Given the description of an element on the screen output the (x, y) to click on. 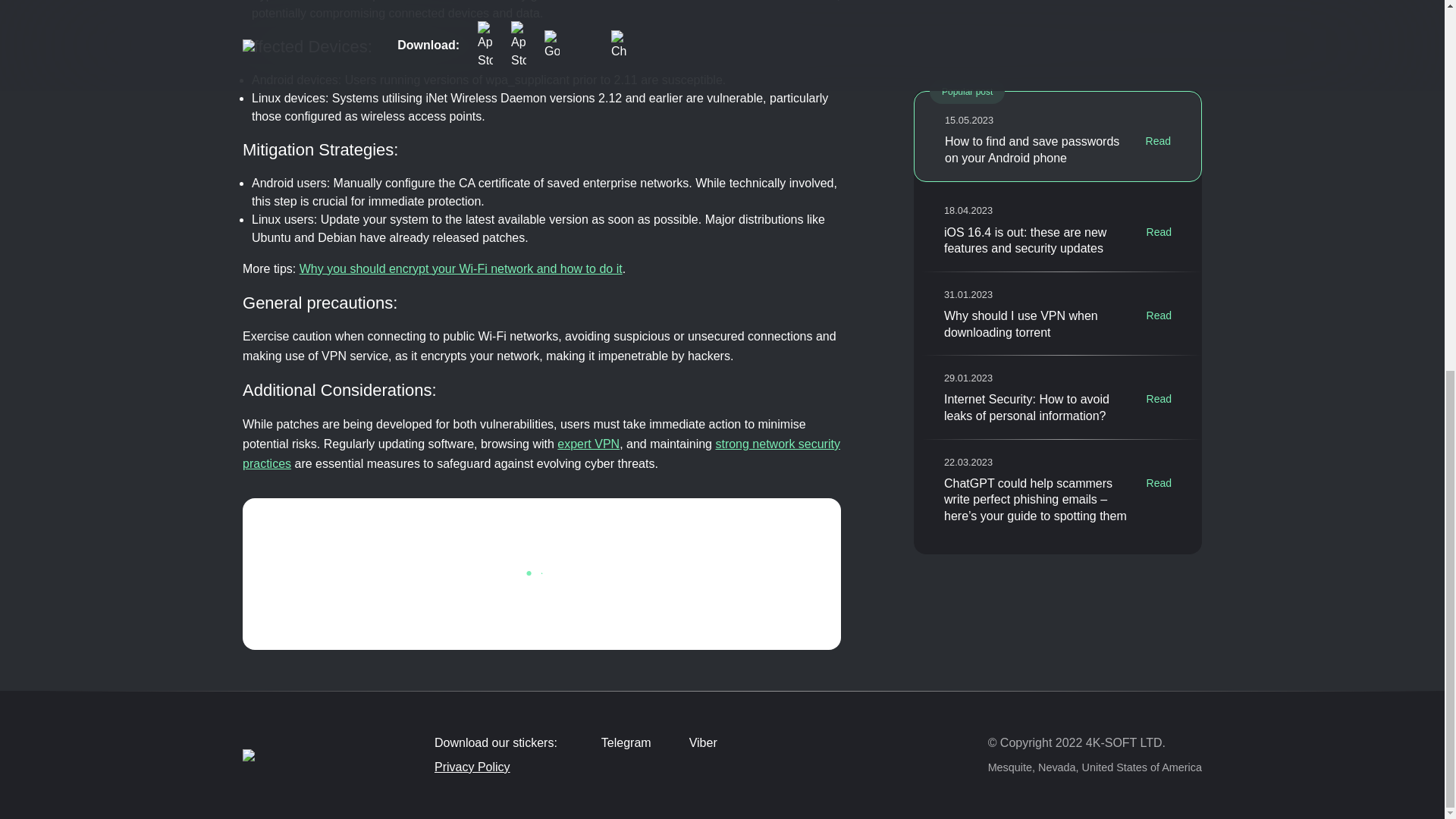
Telegram (614, 742)
Why you should encrypt your Wi-Fi network and how to do it (461, 268)
Viber (691, 742)
strong network security practices (541, 453)
Privacy Policy (625, 767)
expert VPN (588, 443)
